Given the description of an element on the screen output the (x, y) to click on. 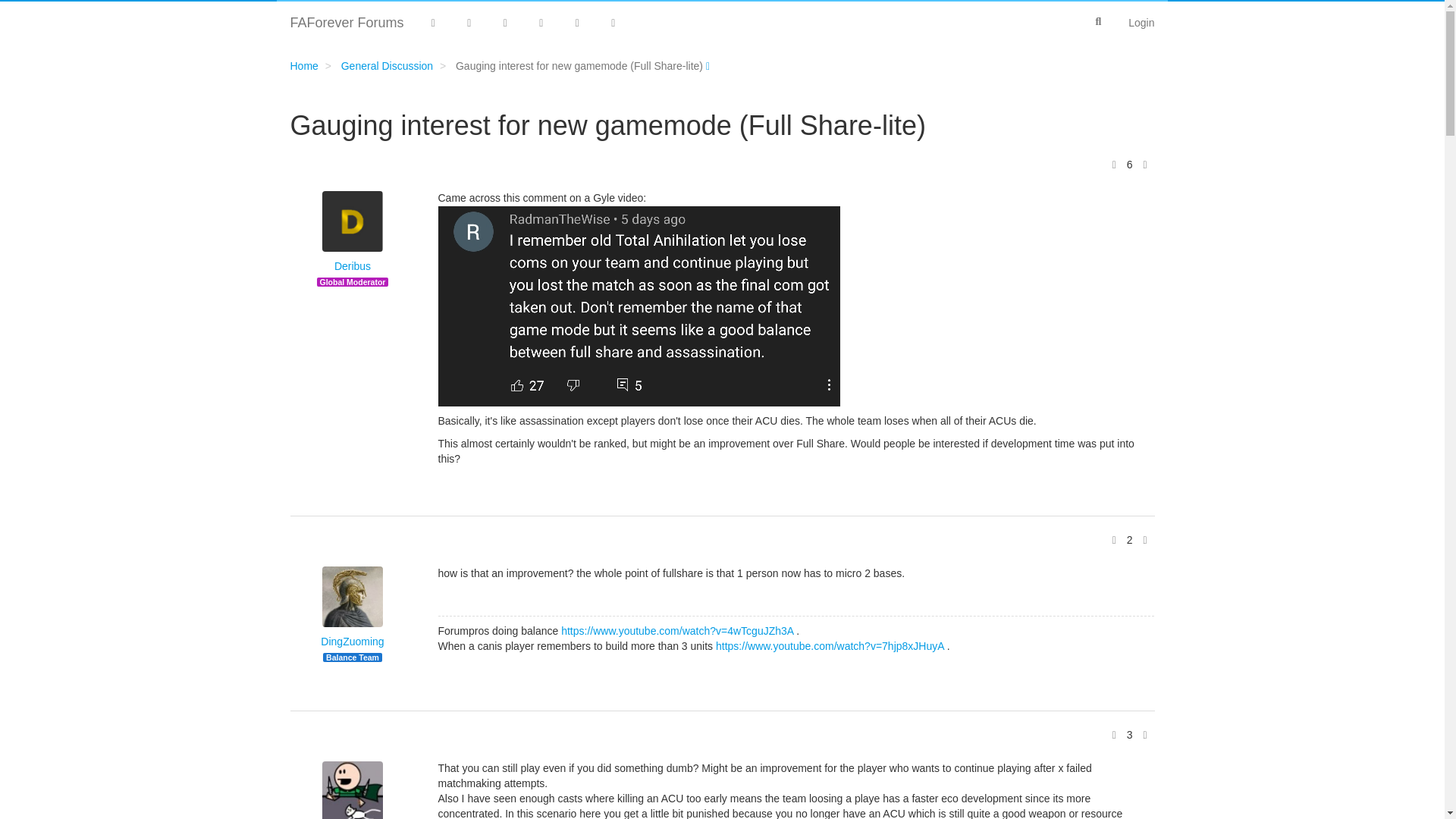
Balance Team (352, 657)
Search (1098, 21)
DingZuoming (352, 642)
Deribus (352, 266)
Global Moderator (352, 281)
Login (1141, 22)
Home (303, 65)
General Discussion (386, 65)
